Given the description of an element on the screen output the (x, y) to click on. 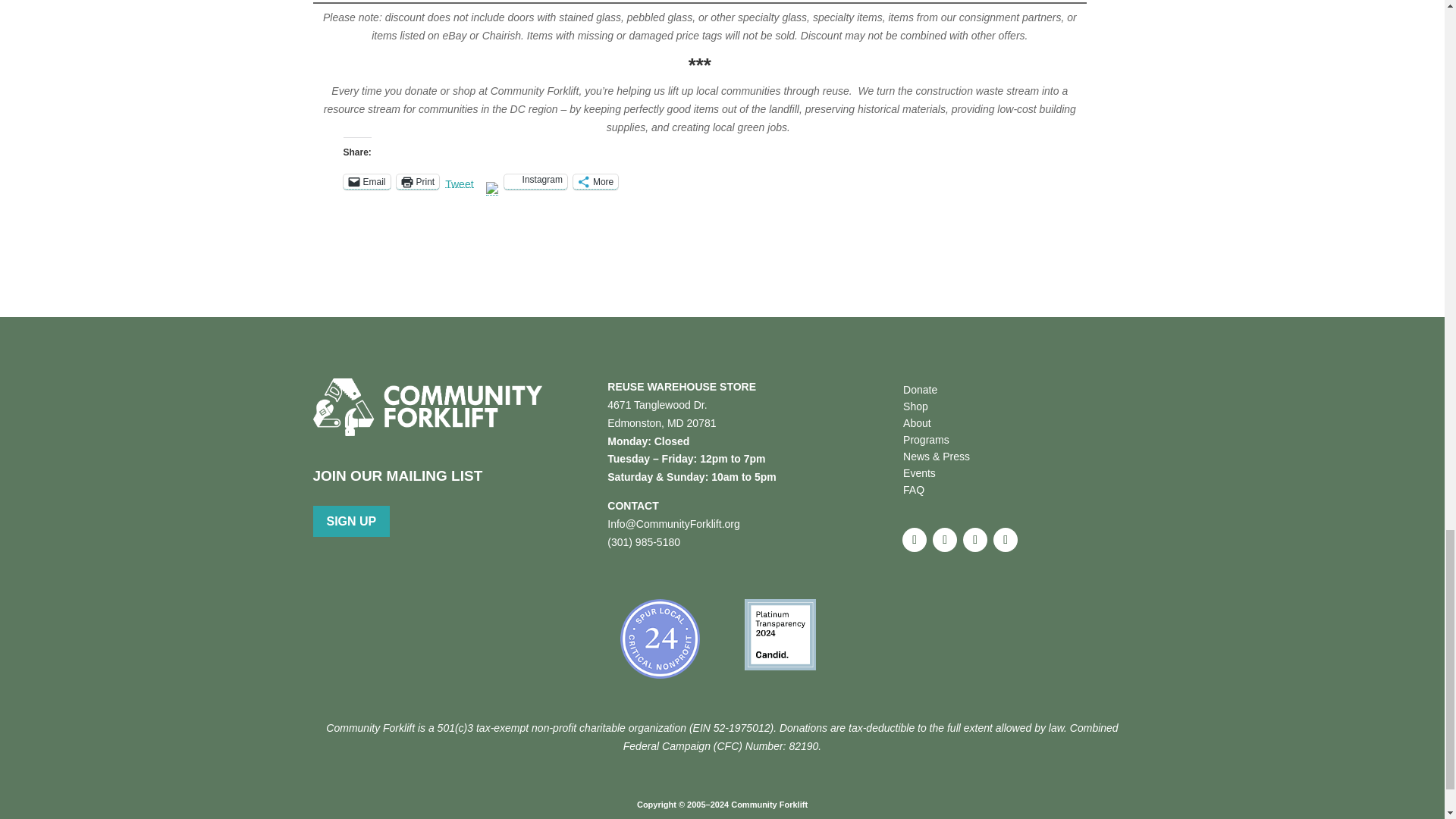
Click to email a link to a friend (366, 181)
Follow on X (944, 539)
Follow on Youtube (1004, 539)
Follow on Facebook (914, 539)
Follow on Instagram (974, 539)
Click to print (417, 181)
Click to share on Instagram (535, 181)
GuideStar-Candid2024PlatinumSealofTransparency (779, 634)
